Given the description of an element on the screen output the (x, y) to click on. 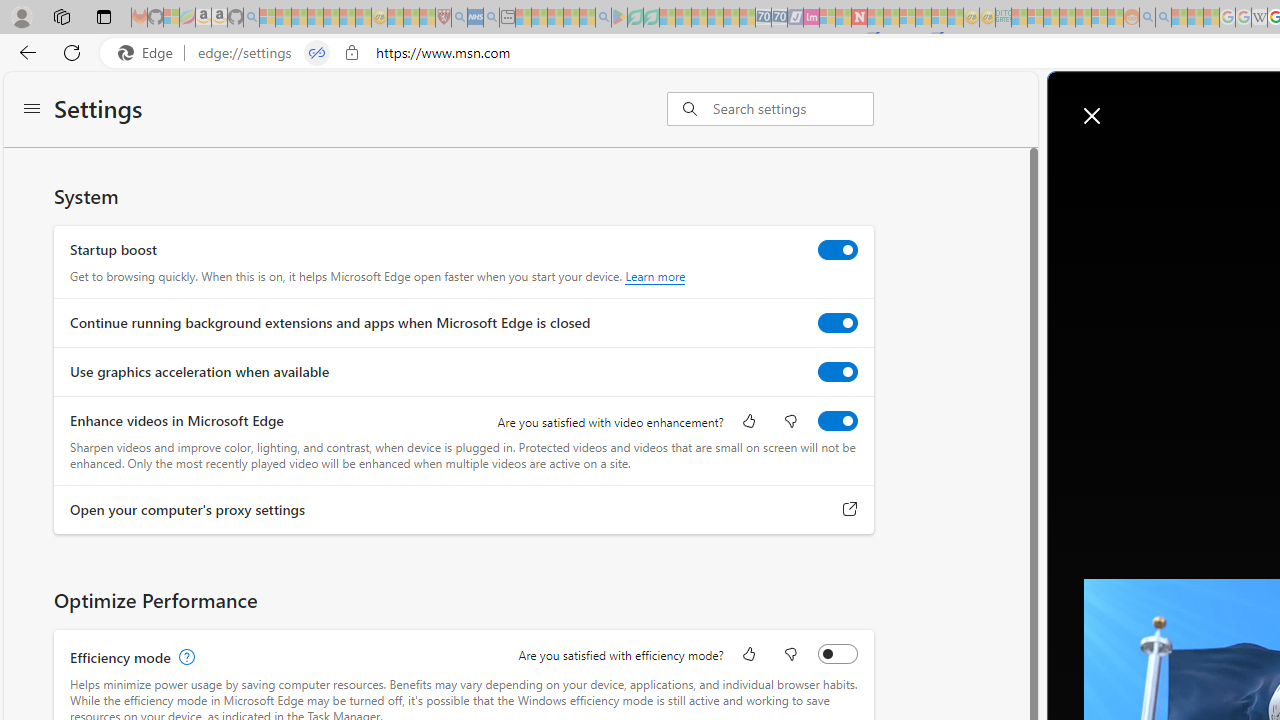
Local - MSN - Sleeping (427, 17)
14 Common Myths Debunked By Scientific Facts - Sleeping (891, 17)
google - Search - Sleeping (603, 17)
Kinda Frugal - MSN - Sleeping (1083, 17)
Expert Portfolios - Sleeping (1067, 17)
New Report Confirms 2023 Was Record Hot | Watch - Sleeping (331, 17)
Open your computer's proxy settings (849, 509)
The Weather Channel - MSN - Sleeping (299, 17)
